Given the description of an element on the screen output the (x, y) to click on. 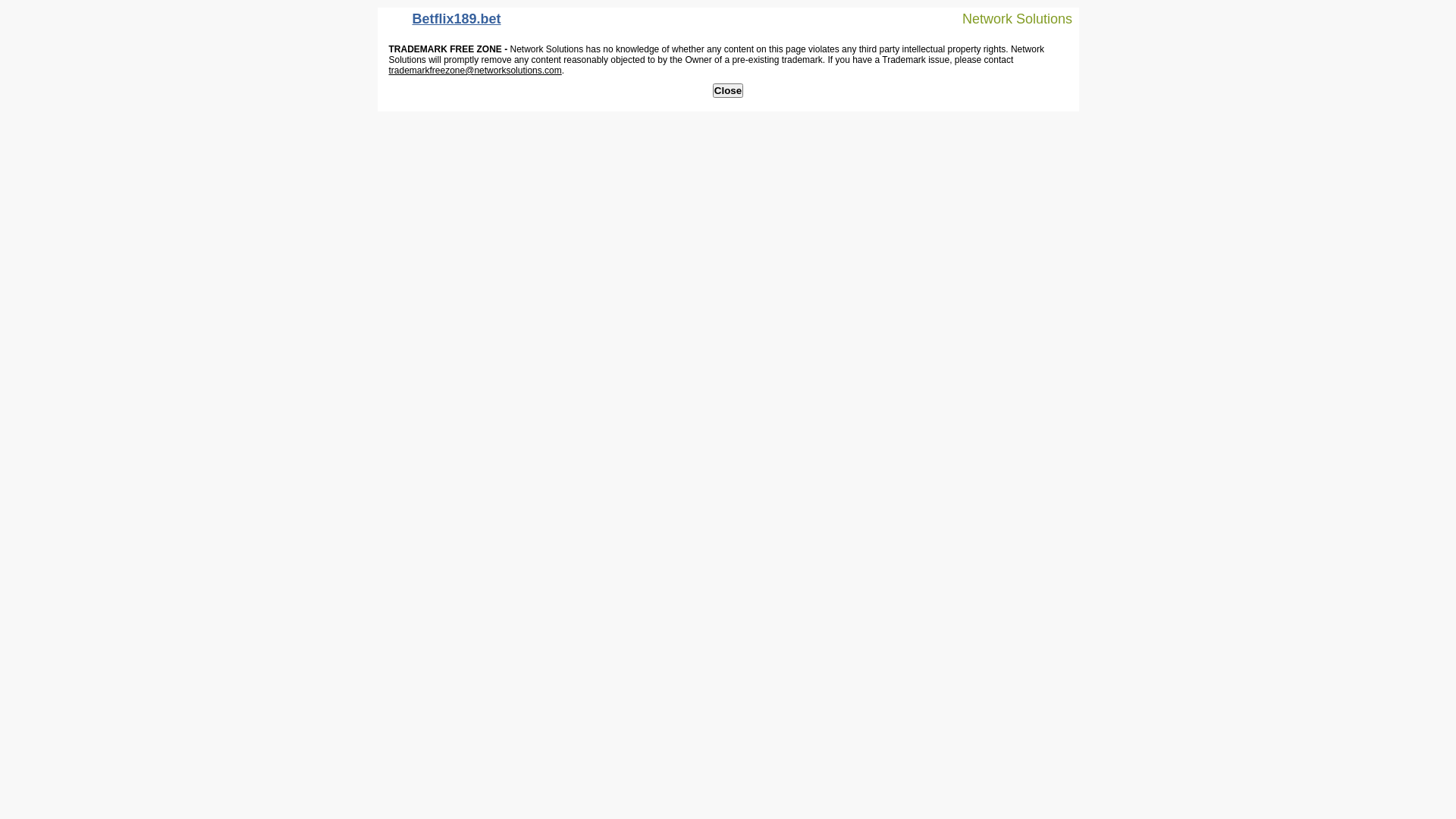
Betflix189.bet Element type: text (443, 21)
trademarkfreezone@networksolutions.com Element type: text (474, 70)
Network Solutions Element type: text (1007, 17)
Close Element type: text (727, 90)
